Given the description of an element on the screen output the (x, y) to click on. 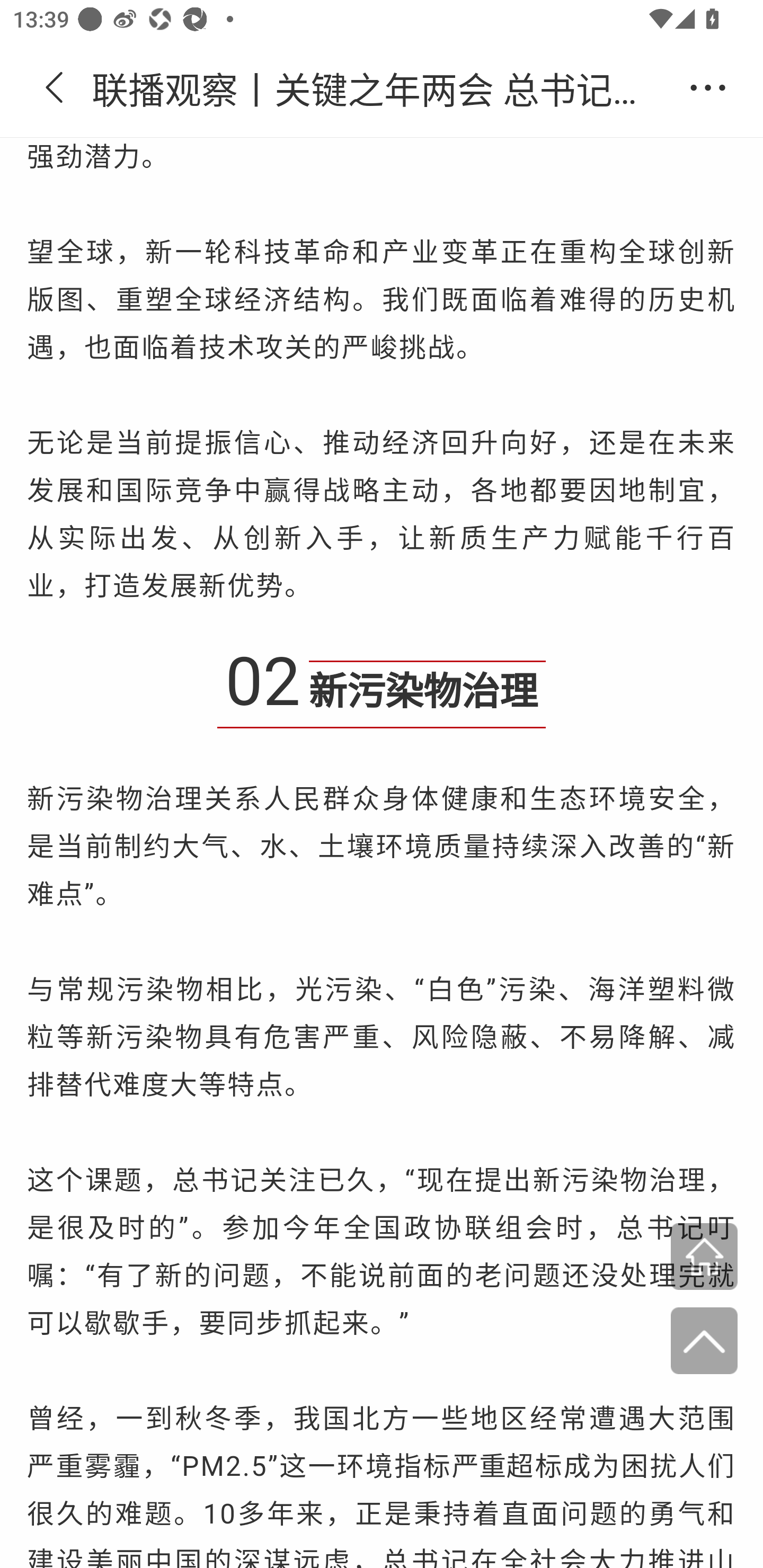
联播观察丨关键之年两会 总书记关注这三“新” (381, 87)
 返回 (54, 87)
 更多 (707, 87)
www.cctv (703, 1258)
